Given the description of an element on the screen output the (x, y) to click on. 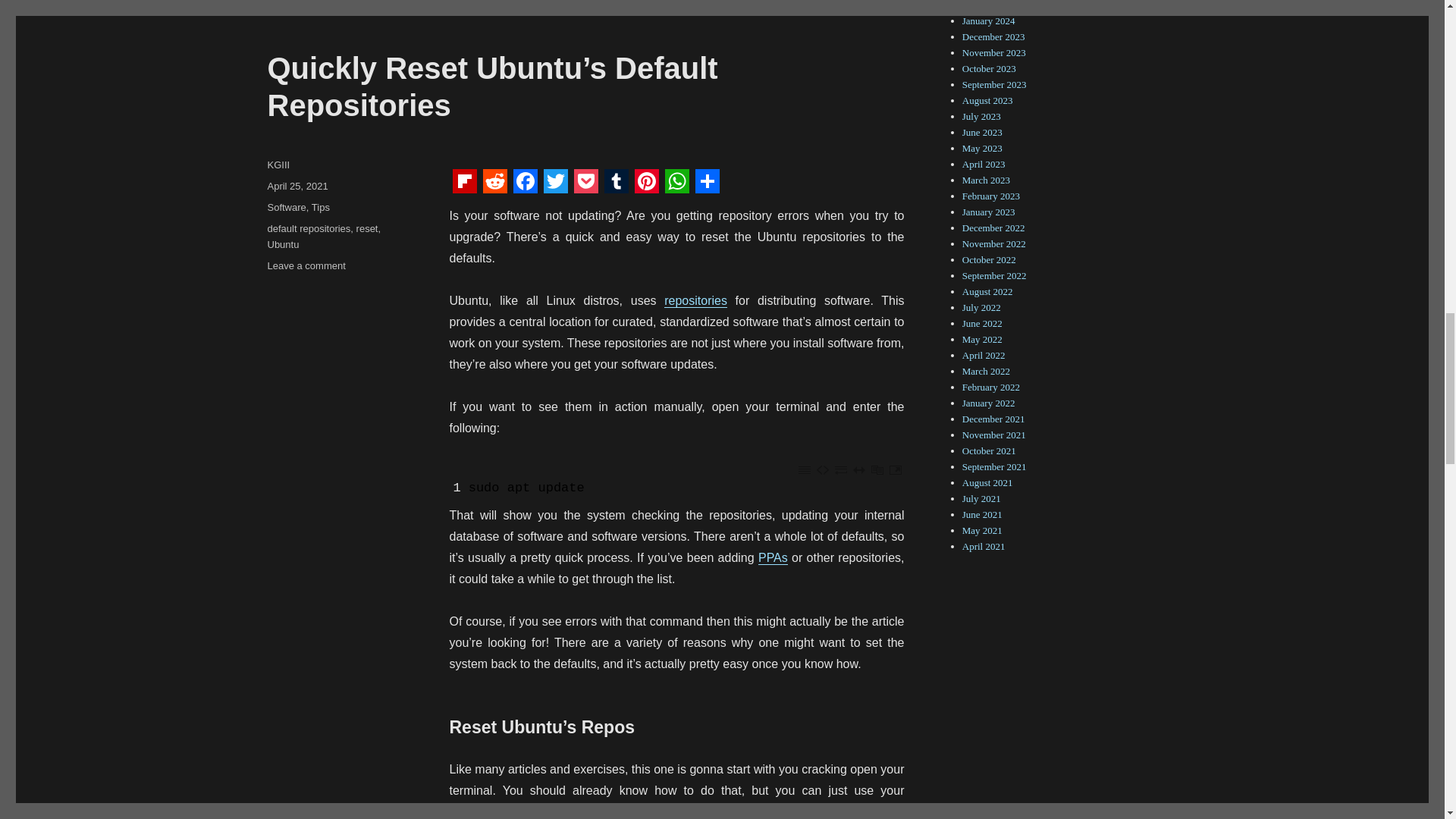
Flipboard (463, 180)
Reddit (494, 180)
Facebook (524, 180)
